Given the description of an element on the screen output the (x, y) to click on. 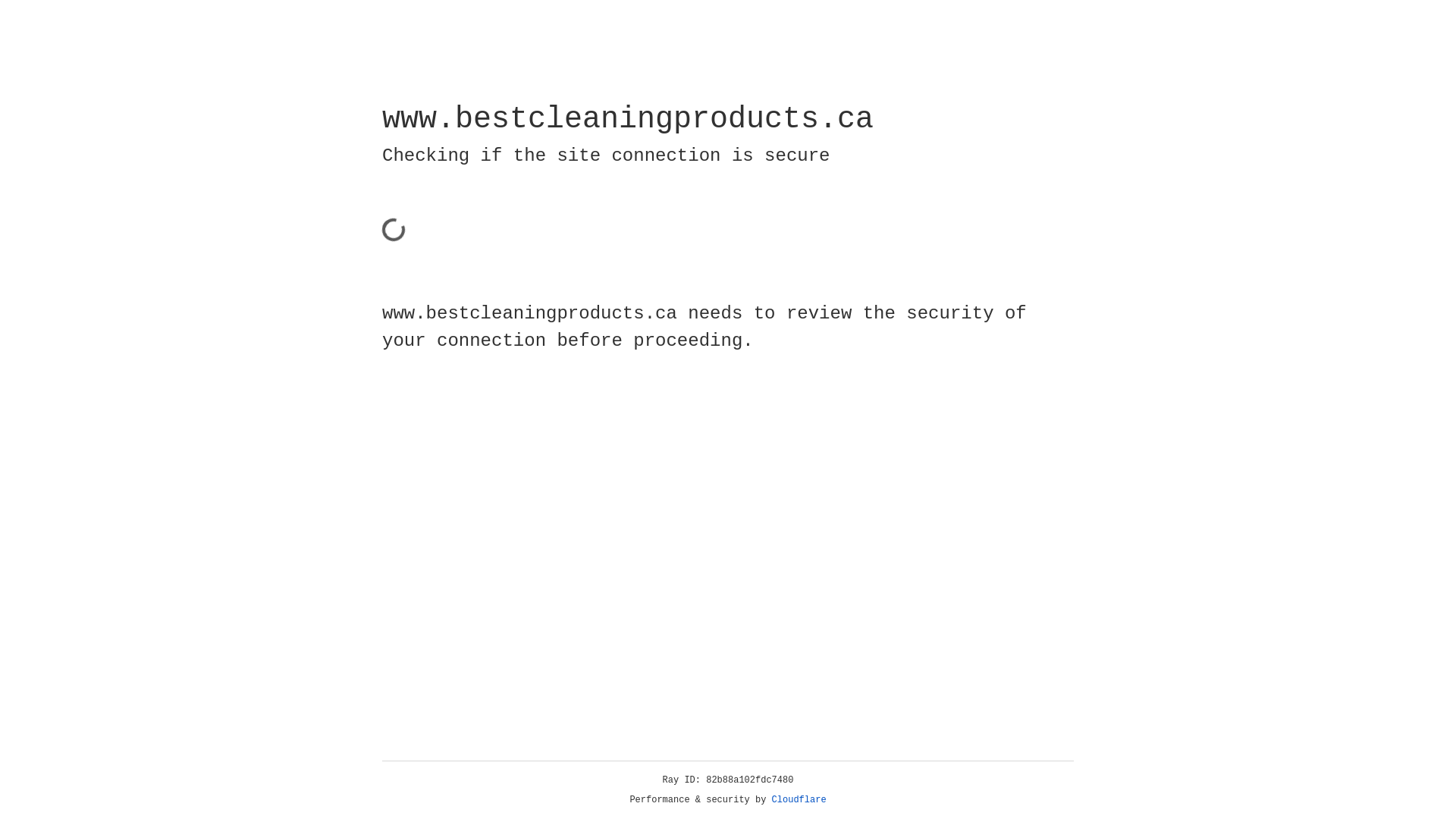
Cloudflare Element type: text (798, 799)
